Given the description of an element on the screen output the (x, y) to click on. 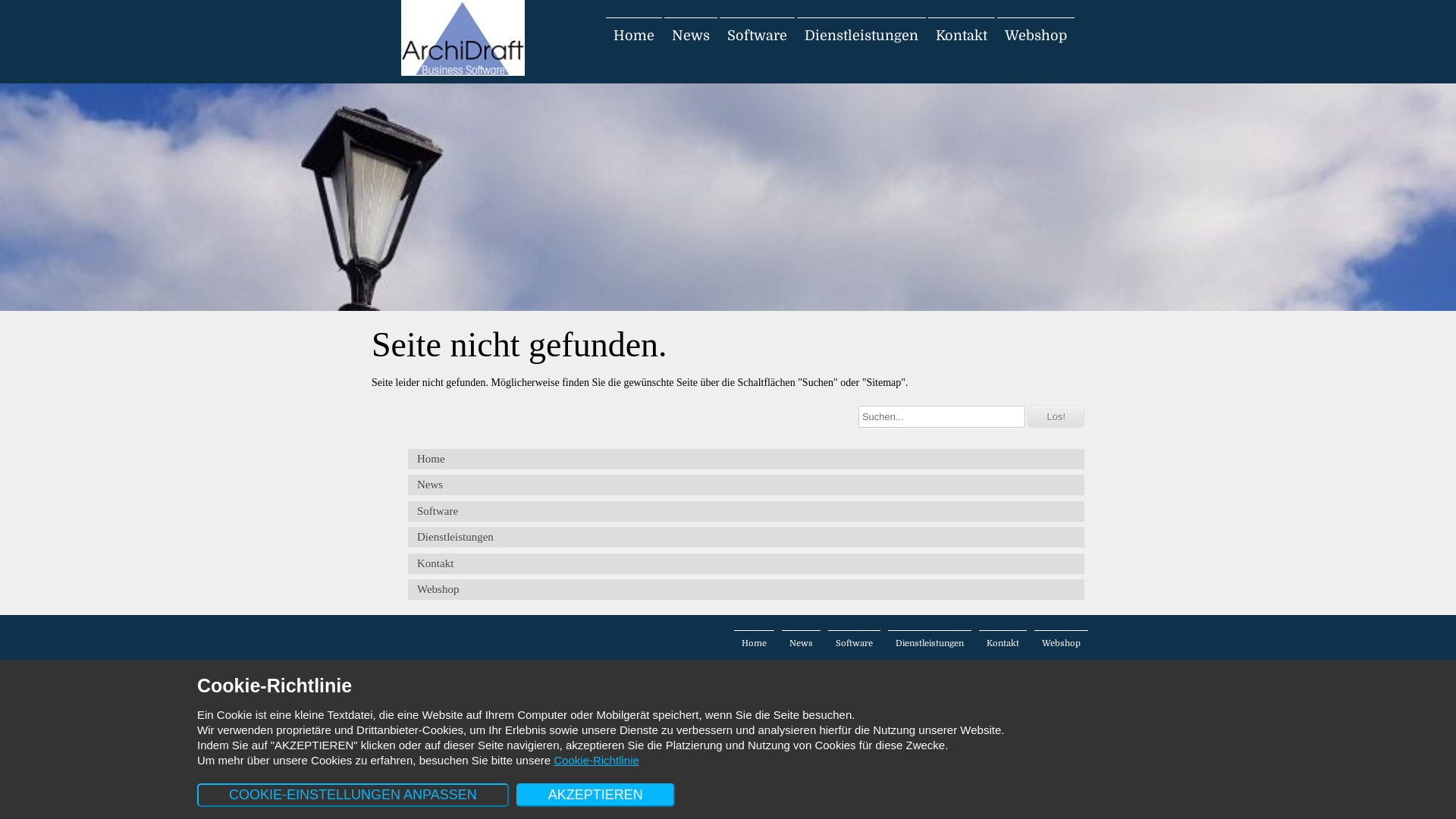
Kontakt Element type: text (1002, 642)
News Element type: text (690, 35)
Richtlinien zu Cookies Element type: text (419, 663)
Kontakt Element type: text (745, 563)
Software Element type: text (854, 642)
Cookie-Richtlinie Element type: text (596, 759)
Software Element type: text (745, 510)
Dienstleistungen Element type: text (745, 537)
Webshop Element type: text (1035, 35)
Kontakt Element type: text (961, 35)
Software Element type: text (756, 35)
AKZEPTIEREN Element type: text (595, 794)
Datenschutzbestimmungen Element type: text (522, 663)
News Element type: text (745, 484)
Home Element type: text (745, 458)
Impressum Element type: text (602, 663)
COOKIE-EINSTELLUNGEN ANPASSEN Element type: text (352, 794)
Dienstleistungen Element type: text (861, 35)
Home Element type: text (633, 35)
Los! Element type: text (1055, 416)
Dienstleistungen Element type: text (929, 642)
Home Element type: text (754, 642)
Webshop Element type: text (1061, 642)
News Element type: text (800, 642)
Webshop Element type: text (745, 589)
